Given the description of an element on the screen output the (x, y) to click on. 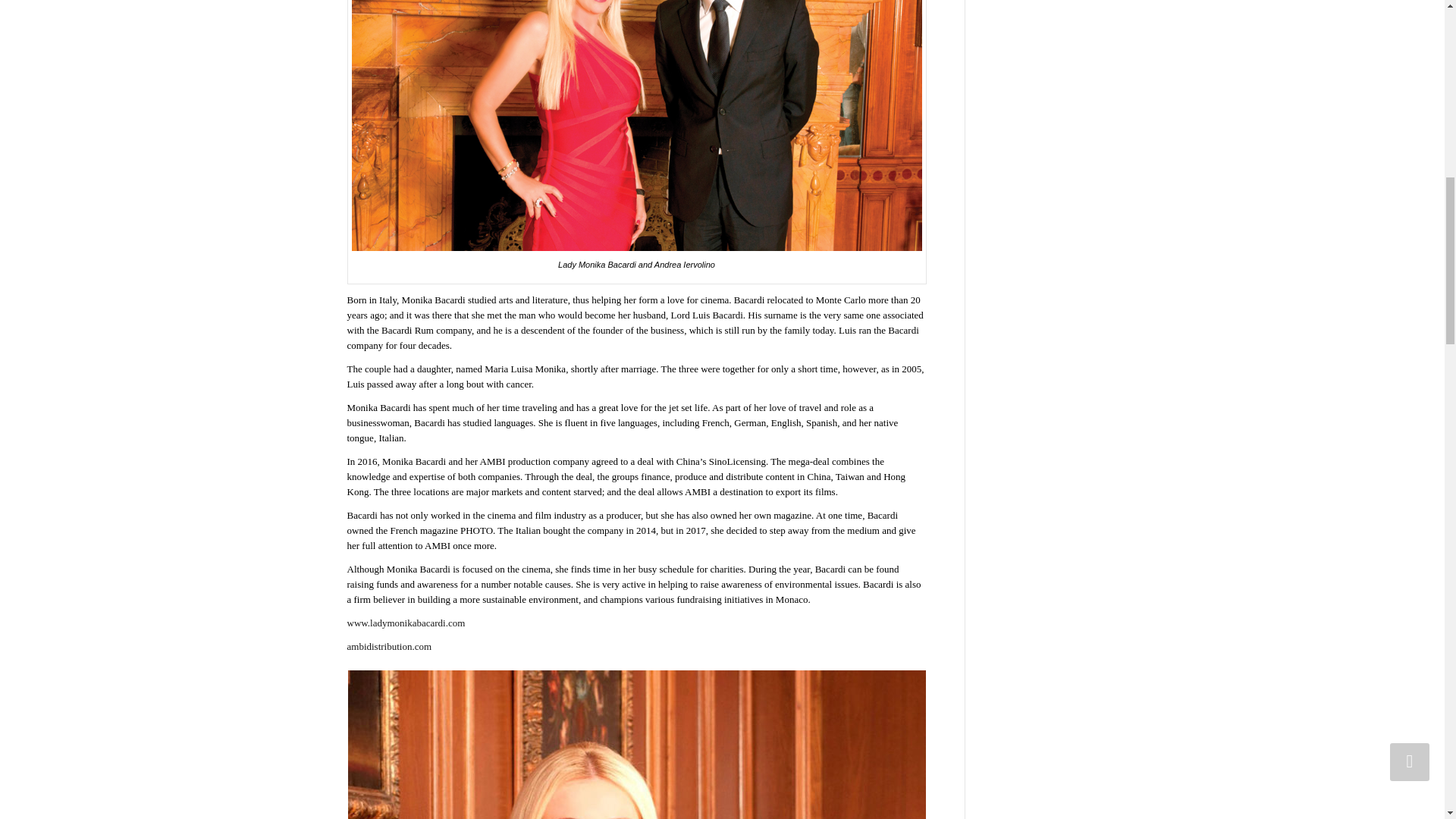
www.ladymonikabacardi.com (406, 622)
ambidistribution.com (389, 645)
